Given the description of an element on the screen output the (x, y) to click on. 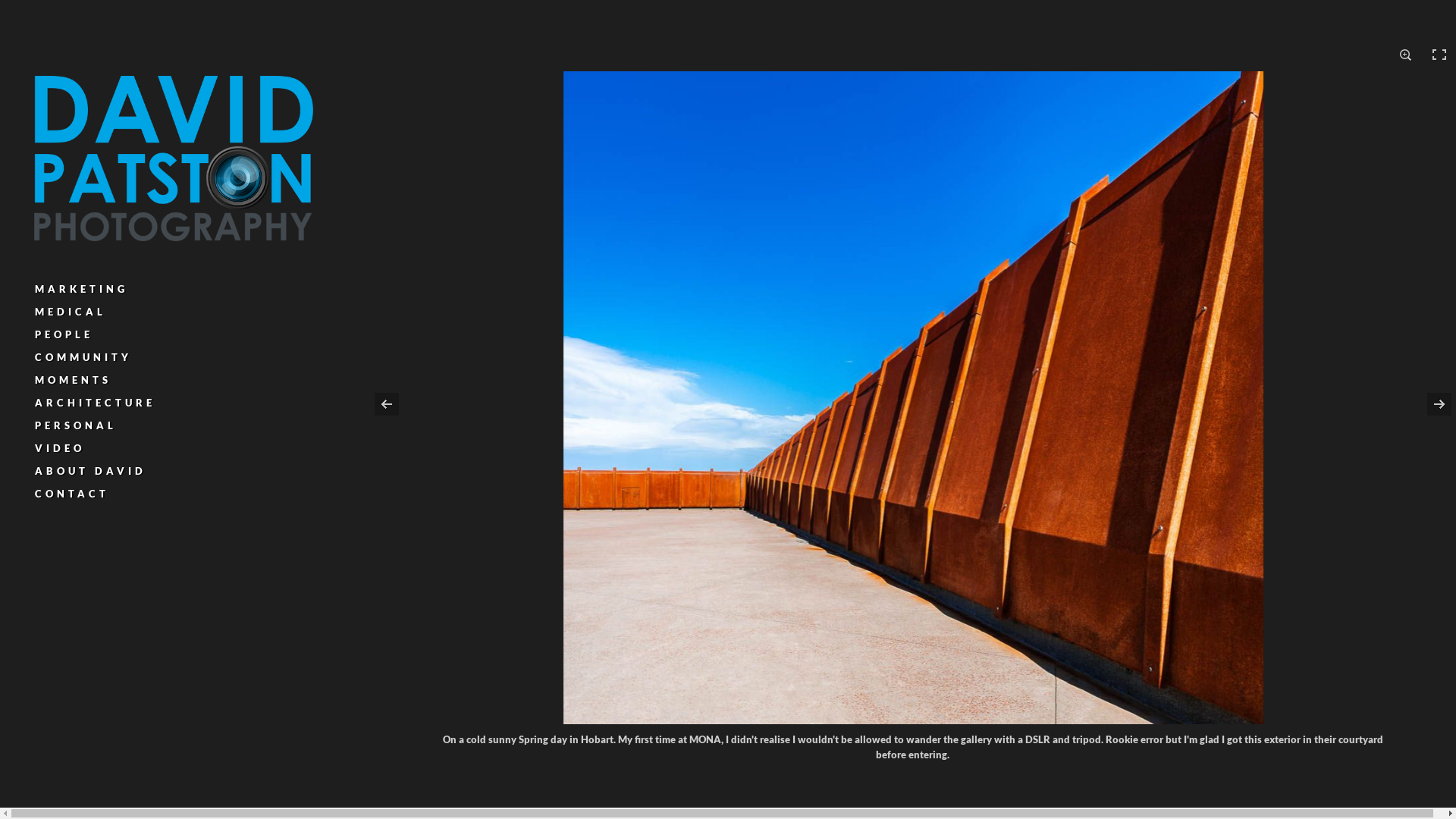
ABOUT DAVID Element type: text (90, 470)
MEDICAL Element type: text (70, 311)
PEOPLE Element type: text (63, 334)
MOMENTS Element type: text (72, 379)
MARKETING Element type: text (81, 288)
VIDEO Element type: text (59, 447)
ARCHITECTURE Element type: text (94, 402)
Previous (arrow left) Element type: hover (396, 403)
COMMUNITY Element type: text (82, 356)
PERSONAL Element type: text (75, 425)
Zoom in/out Element type: hover (1405, 54)
CONTACT Element type: text (71, 493)
